Given the description of an element on the screen output the (x, y) to click on. 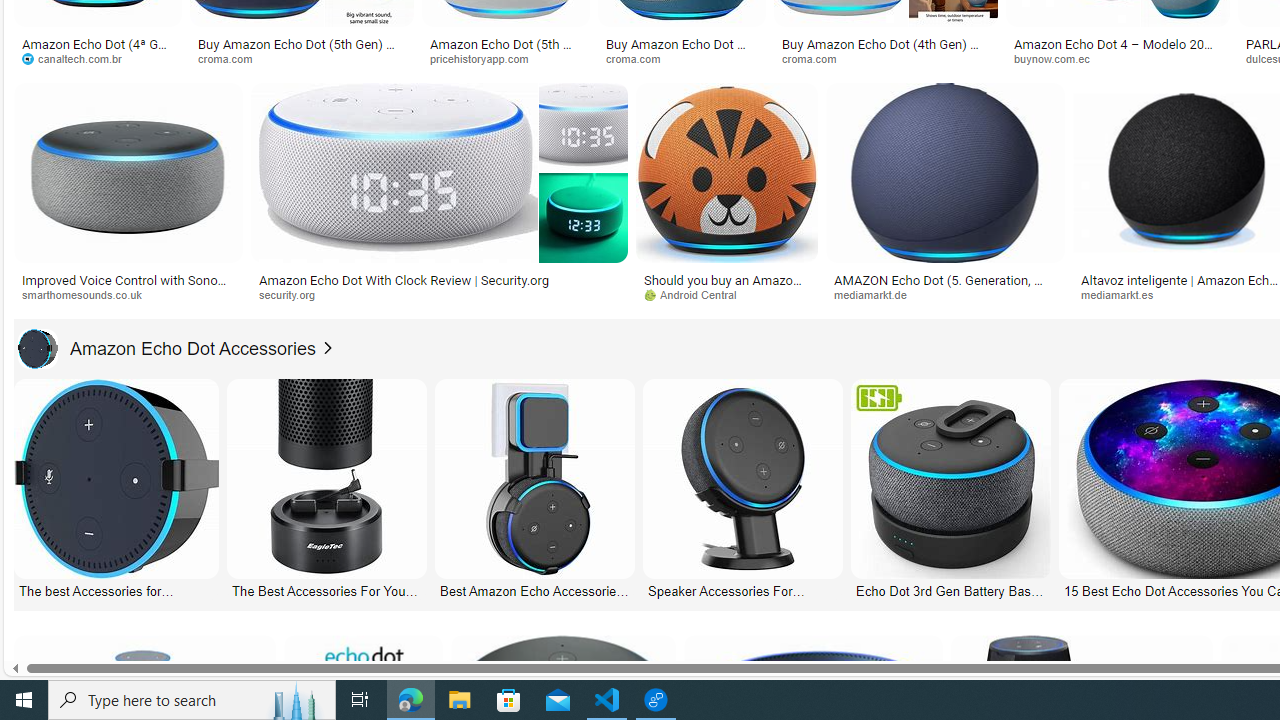
mediamarkt.de (877, 294)
pricehistoryapp.com (486, 57)
smarthomesounds.co.uk (88, 294)
mediamarkt.es (1124, 294)
Amazon Echo Dot With Clock Review | Security.org (438, 279)
pricehistoryapp.com (506, 58)
croma.com (816, 57)
